Given the description of an element on the screen output the (x, y) to click on. 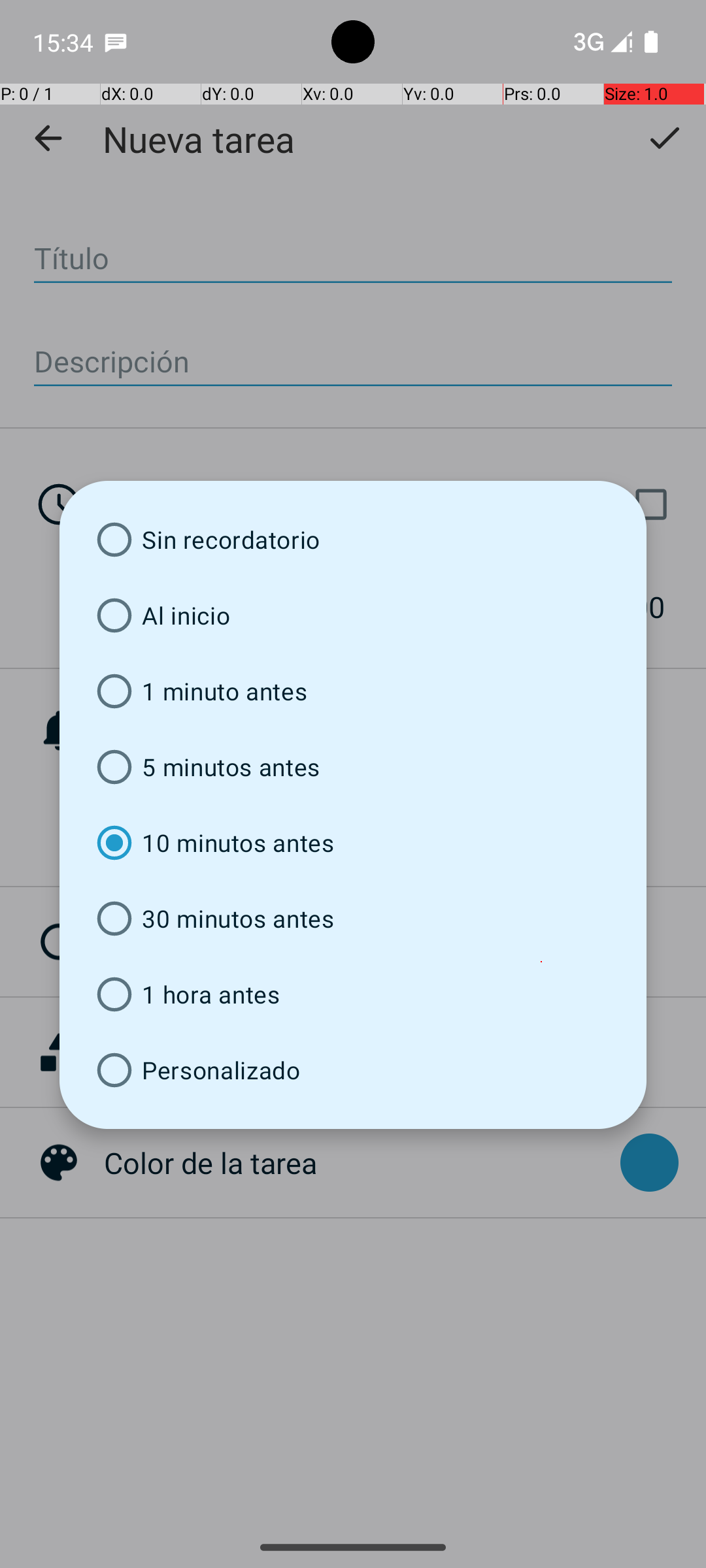
Sin recordatorio Element type: android.widget.RadioButton (352, 539)
Al inicio Element type: android.widget.RadioButton (352, 615)
1 minuto antes Element type: android.widget.RadioButton (352, 691)
5 minutos antes Element type: android.widget.RadioButton (352, 766)
30 minutos antes Element type: android.widget.RadioButton (352, 918)
1 hora antes Element type: android.widget.RadioButton (352, 994)
Personalizado Element type: android.widget.RadioButton (352, 1070)
